Given the description of an element on the screen output the (x, y) to click on. 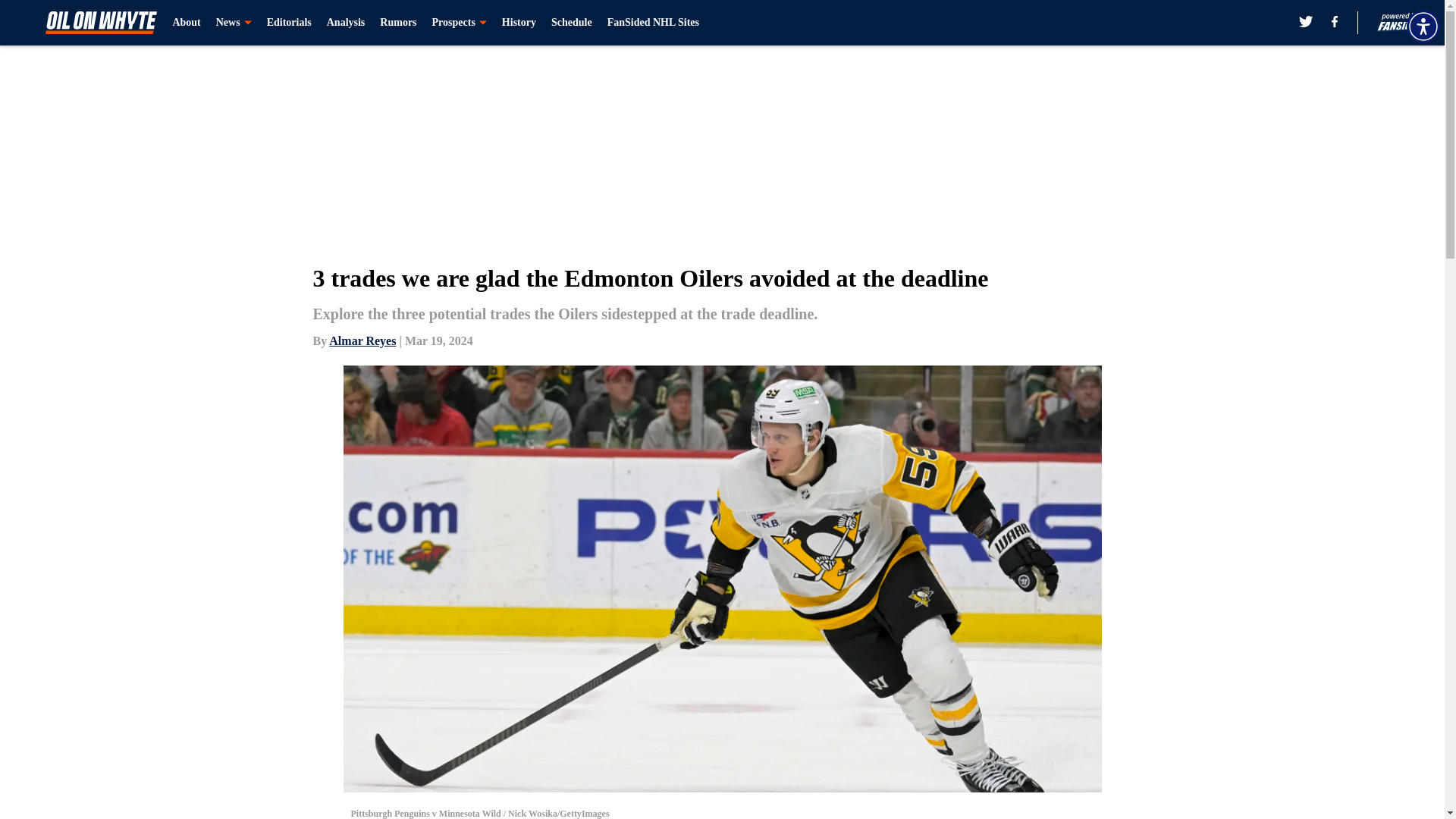
History (518, 22)
Almar Reyes (362, 340)
Rumors (398, 22)
FanSided NHL Sites (652, 22)
Analysis (345, 22)
Schedule (571, 22)
About (185, 22)
Accessibility Menu (1422, 26)
Editorials (288, 22)
